Given the description of an element on the screen output the (x, y) to click on. 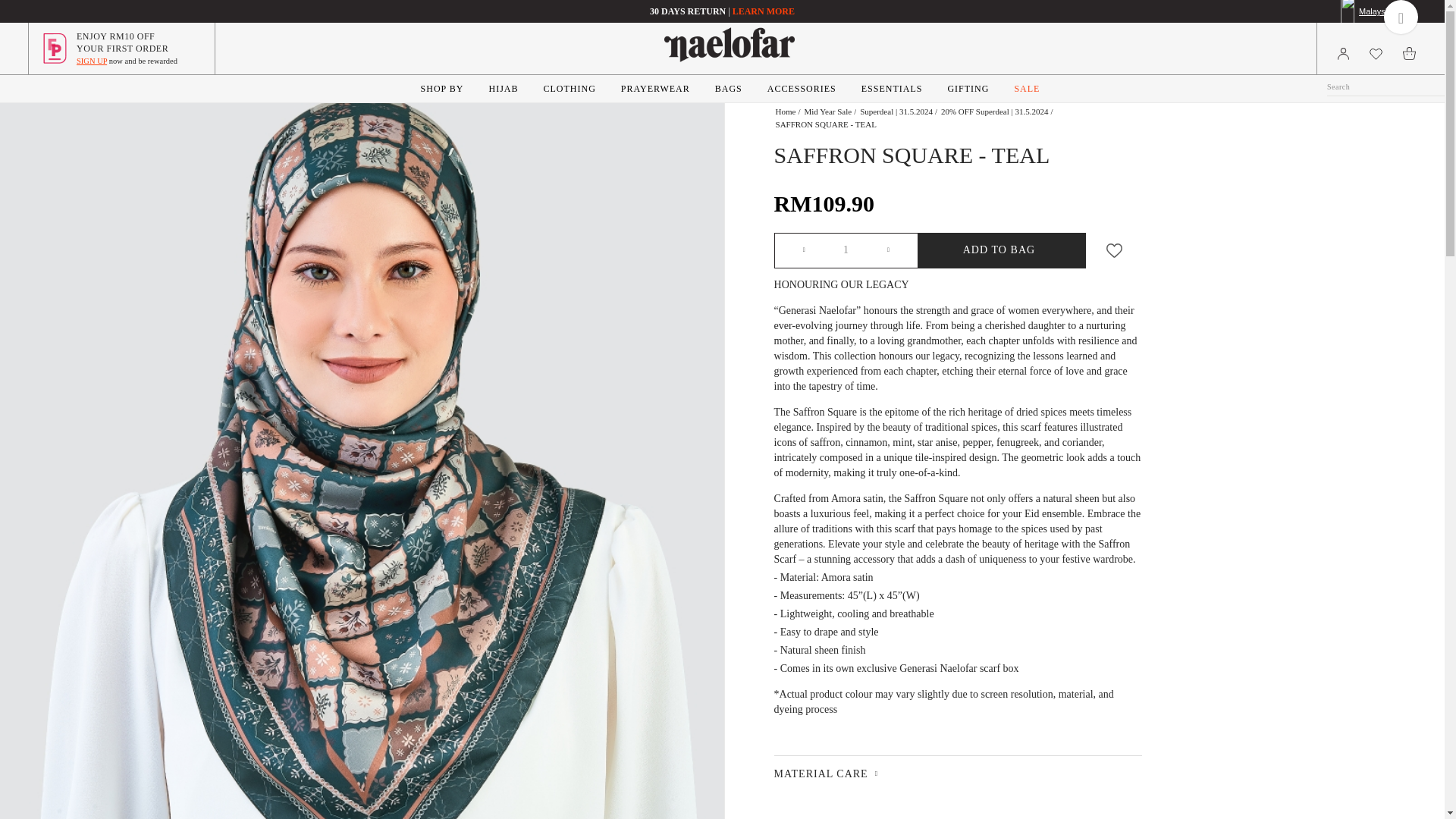
LEARN MORE (763, 10)
SHOP BY (442, 87)
1 (845, 249)
SIGN UP (91, 60)
My Cart (1409, 52)
